Given the description of an element on the screen output the (x, y) to click on. 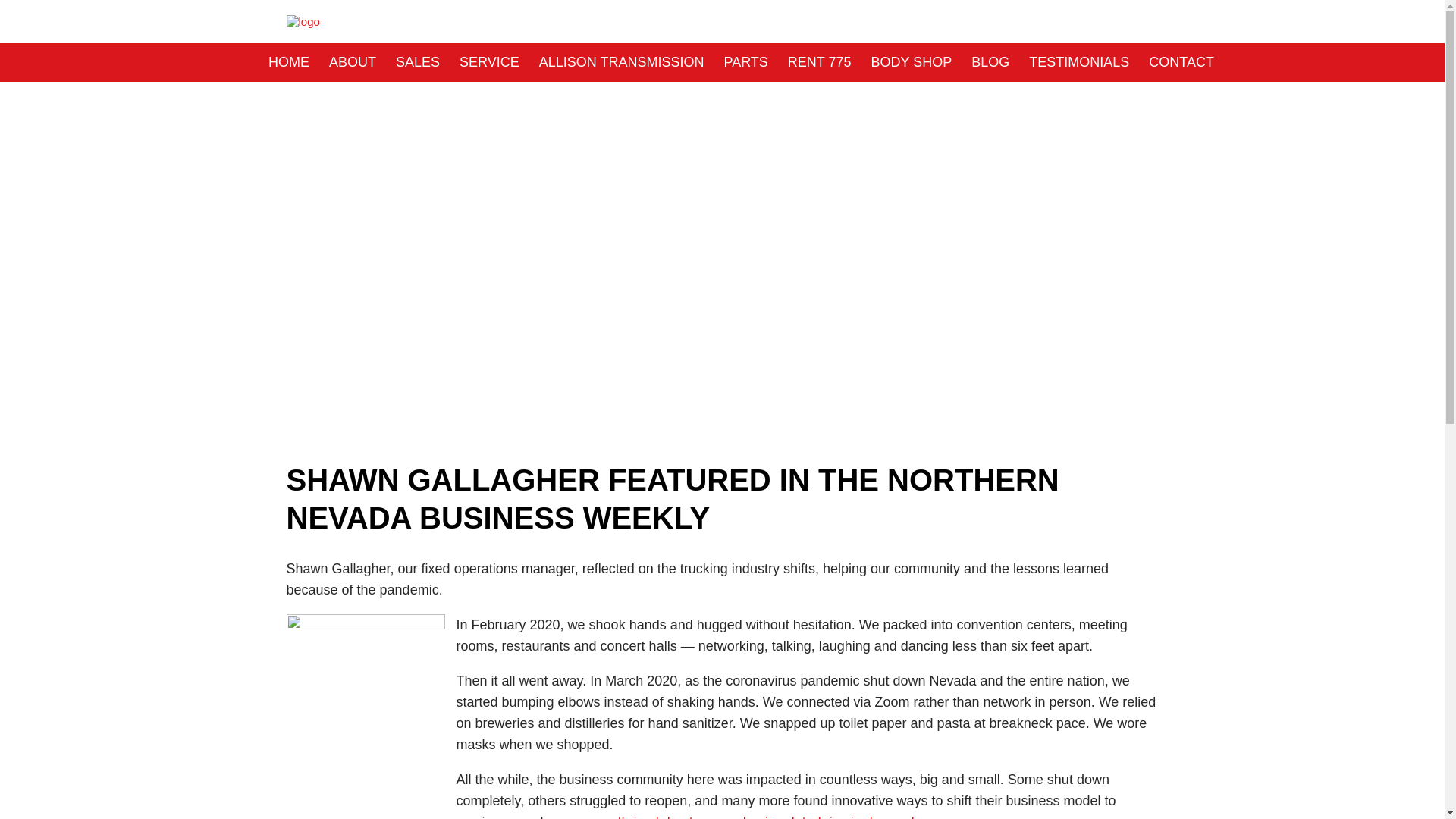
SERVICE (488, 62)
some even thrived due to a pandemic-related rise in demand (730, 816)
TESTIMONIALS (1079, 62)
RENT 775 (819, 62)
CONTACT (1181, 62)
BLOG (989, 62)
HOME (288, 62)
SALES (417, 62)
PARTS (745, 62)
BODY SHOP (911, 62)
ABOUT (352, 62)
ALLISON TRANSMISSION (621, 62)
